Given the description of an element on the screen output the (x, y) to click on. 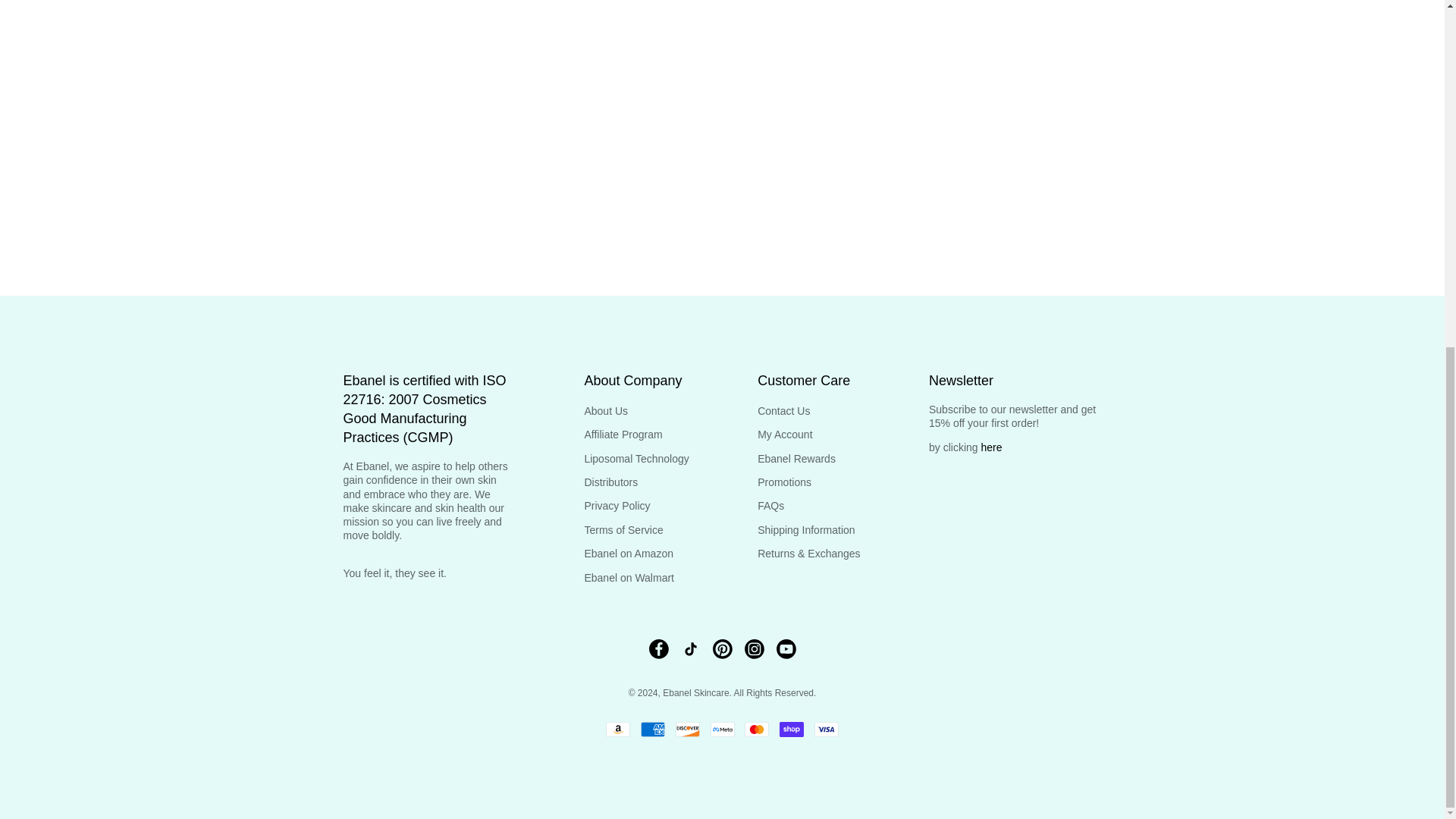
Subscribe (535, 45)
Tiktok (690, 649)
